Given the description of an element on the screen output the (x, y) to click on. 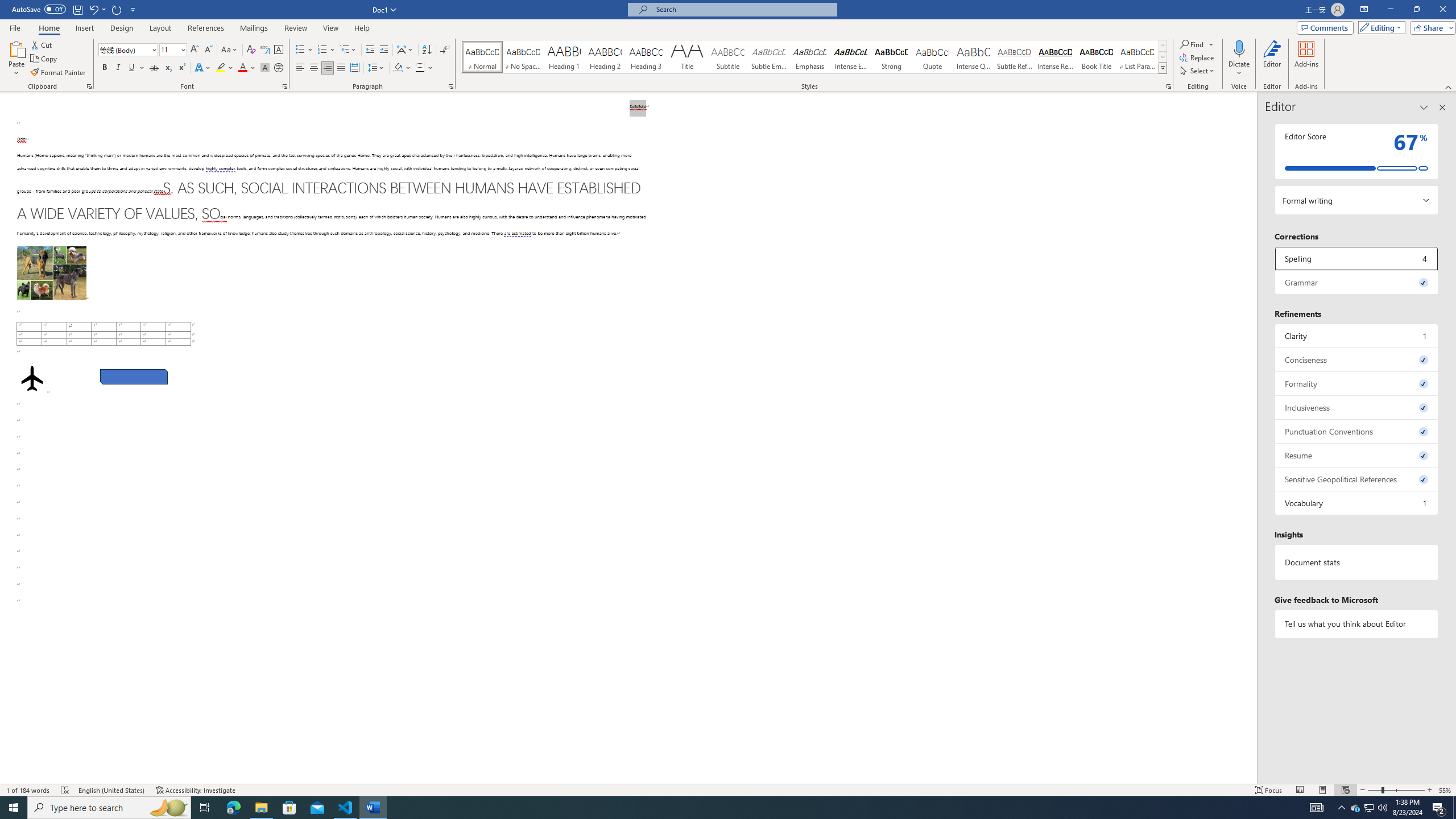
Resume, 0 issues. Press space or enter to review items. (1356, 454)
Subtle Emphasis (768, 56)
